Given the description of an element on the screen output the (x, y) to click on. 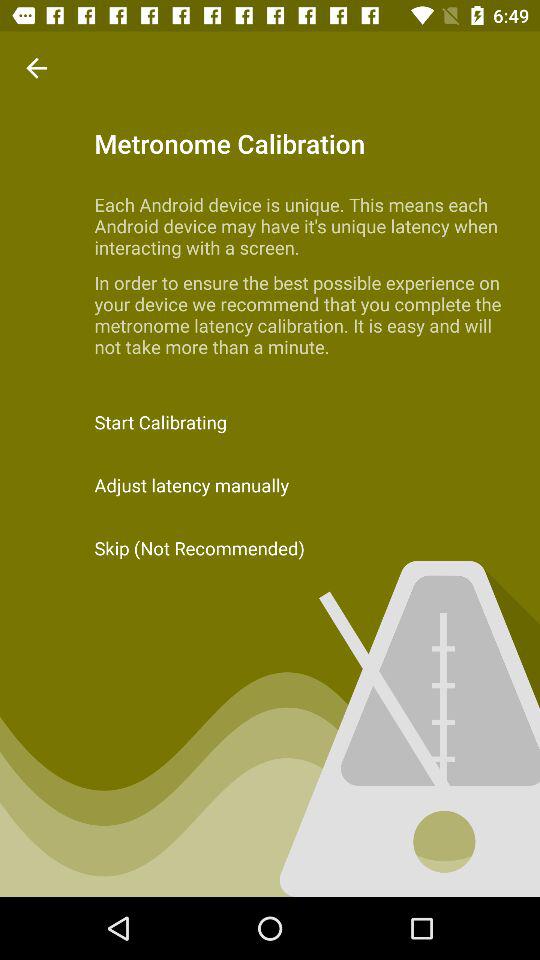
scroll to adjust latency manually icon (270, 484)
